Given the description of an element on the screen output the (x, y) to click on. 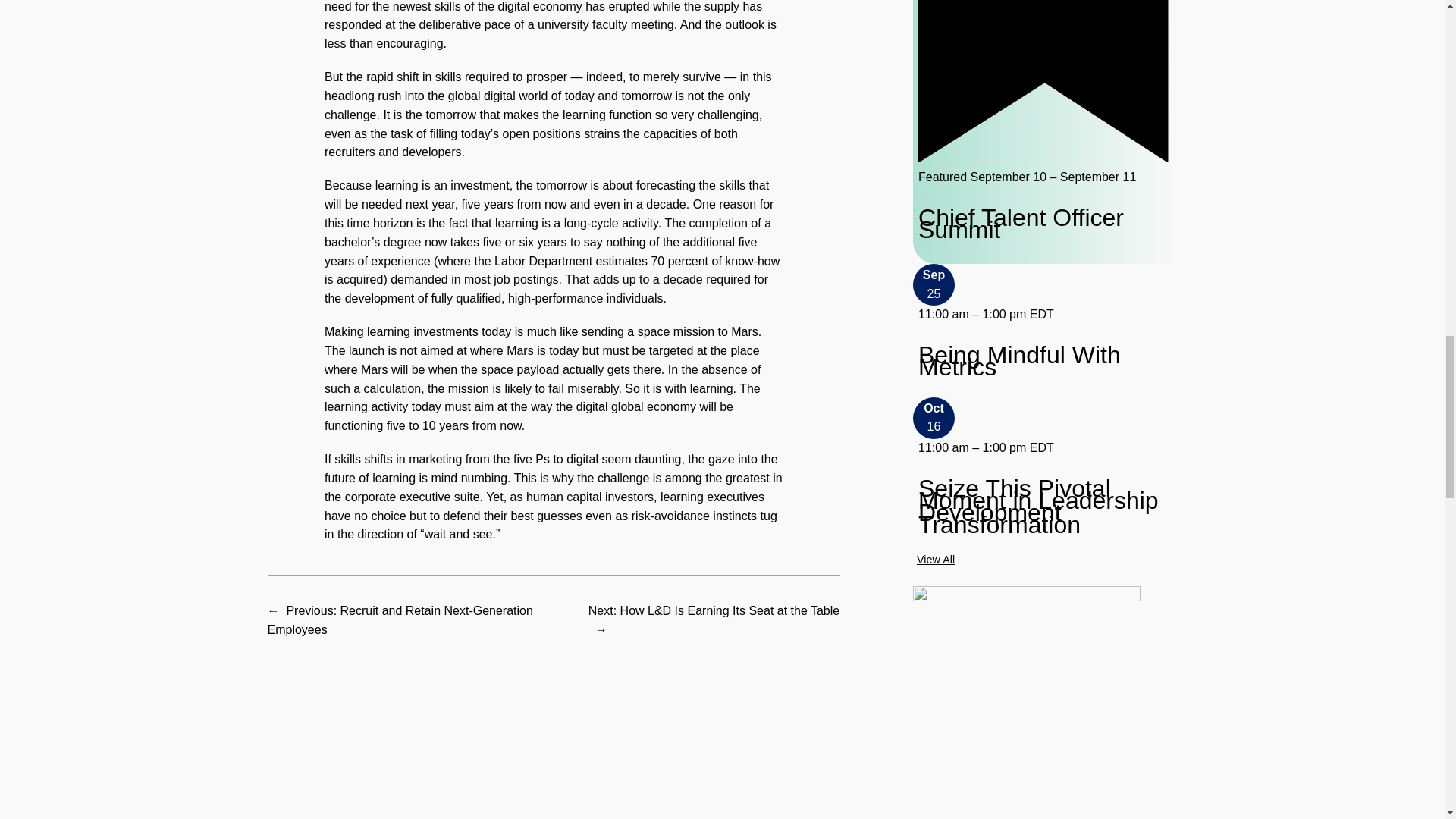
Featured (1042, 157)
Chief Talent Officer Summit (1042, 223)
Featured (1042, 81)
Being Mindful With Metrics (1045, 360)
